Given the description of an element on the screen output the (x, y) to click on. 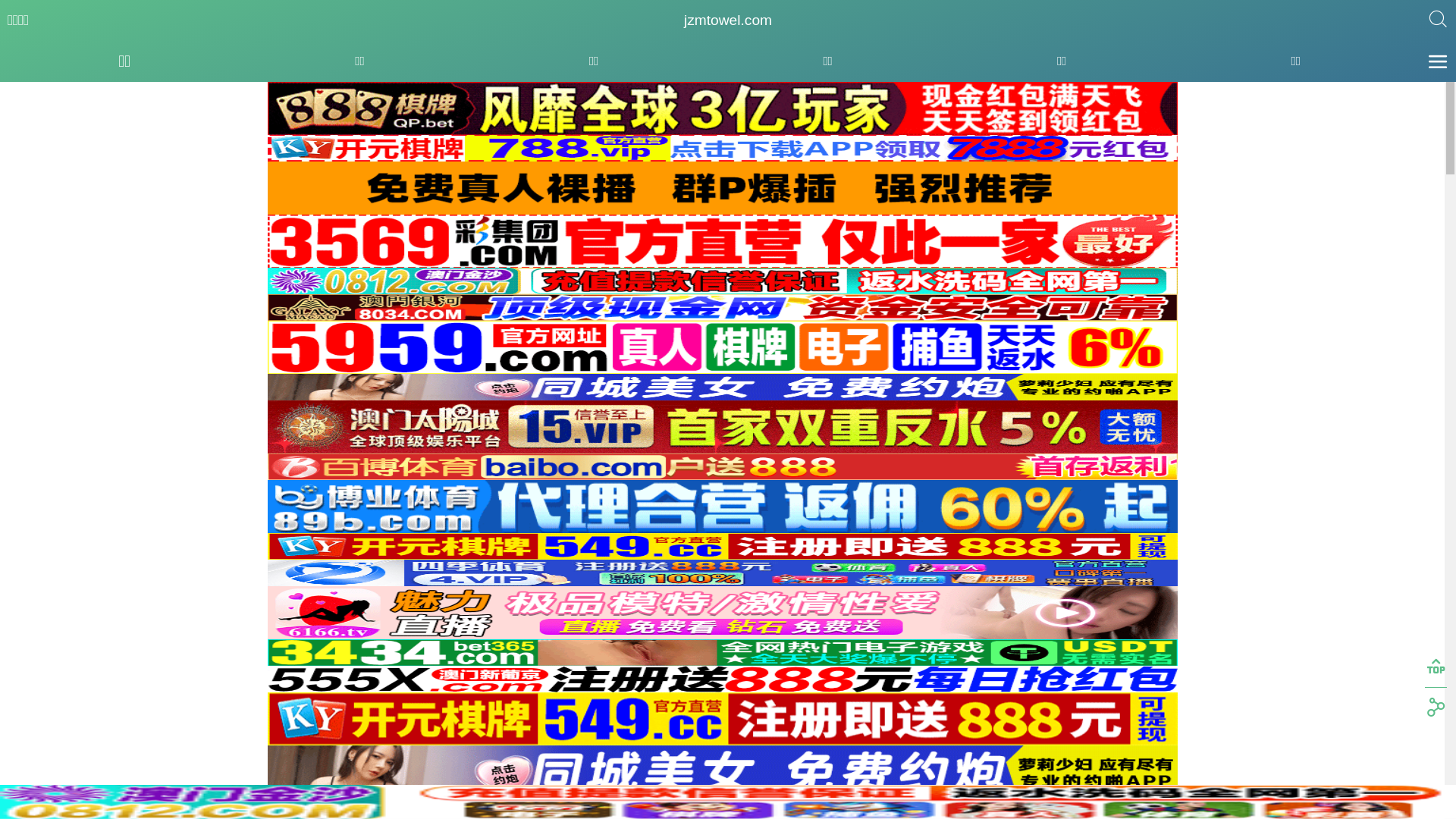
jzmtowel.com Element type: text (727, 20)
